Given the description of an element on the screen output the (x, y) to click on. 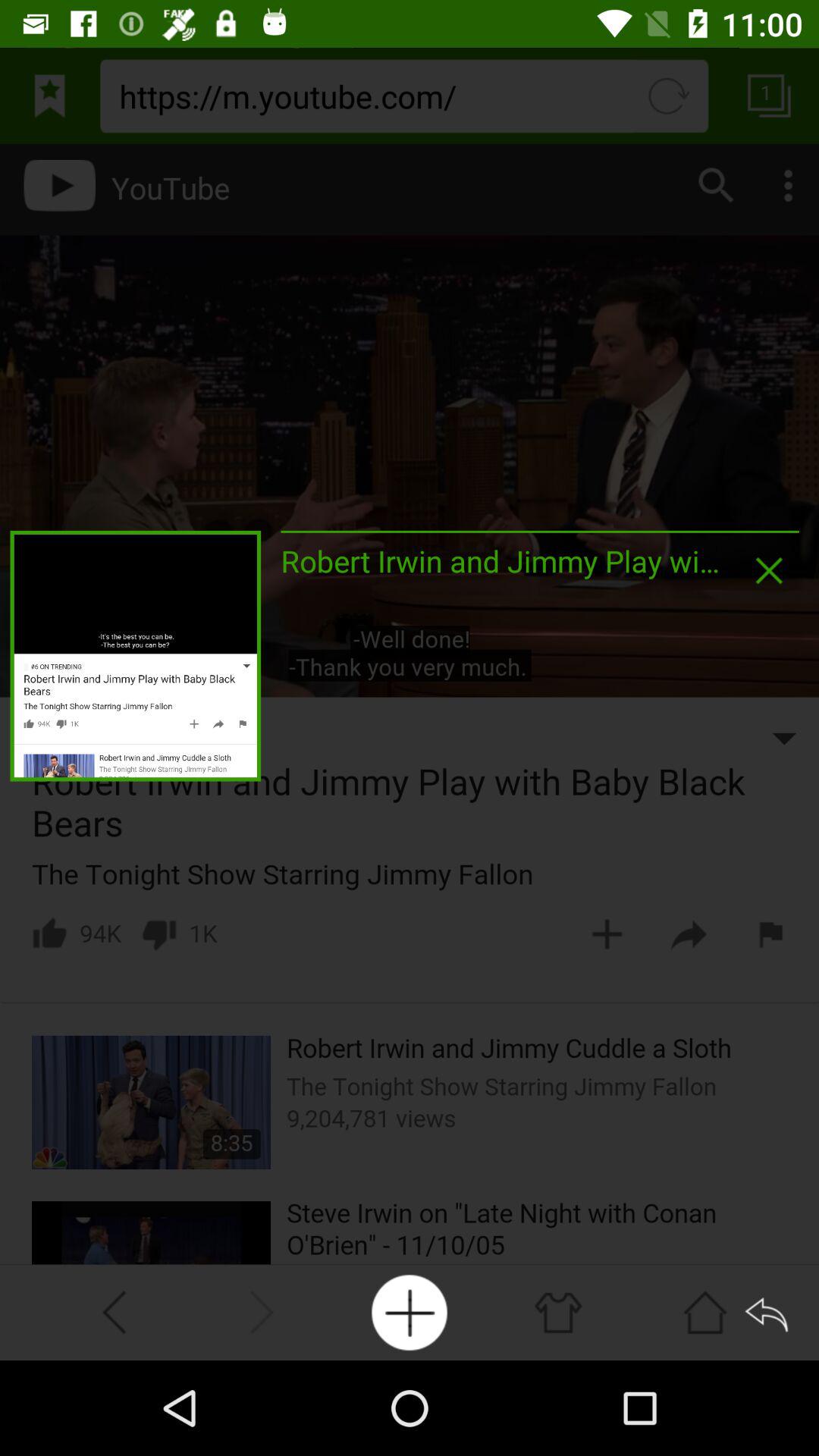
go back (769, 1312)
